Given the description of an element on the screen output the (x, y) to click on. 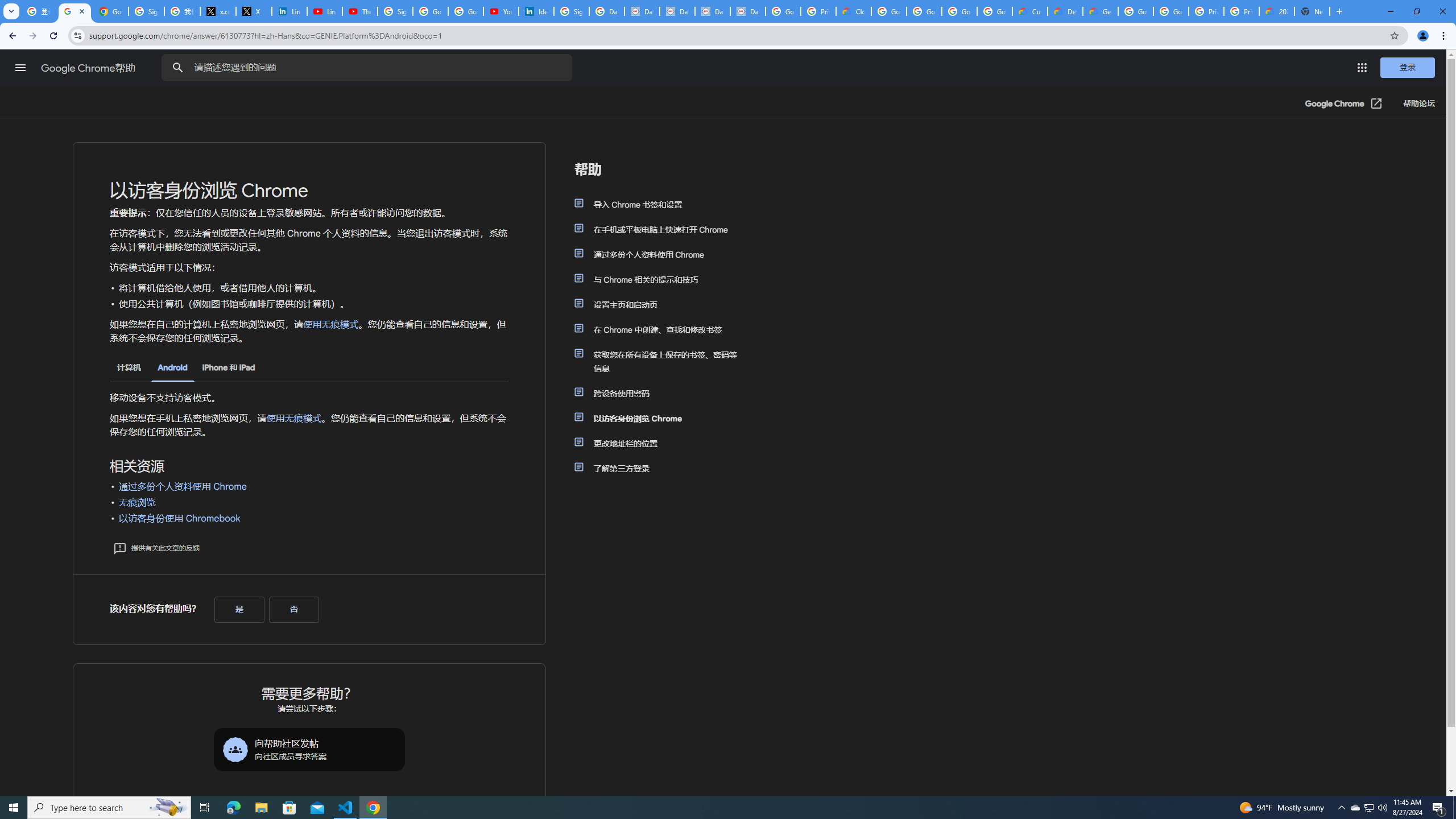
Google Cloud Platform (1135, 11)
New Tab (1312, 11)
